Given the description of an element on the screen output the (x, y) to click on. 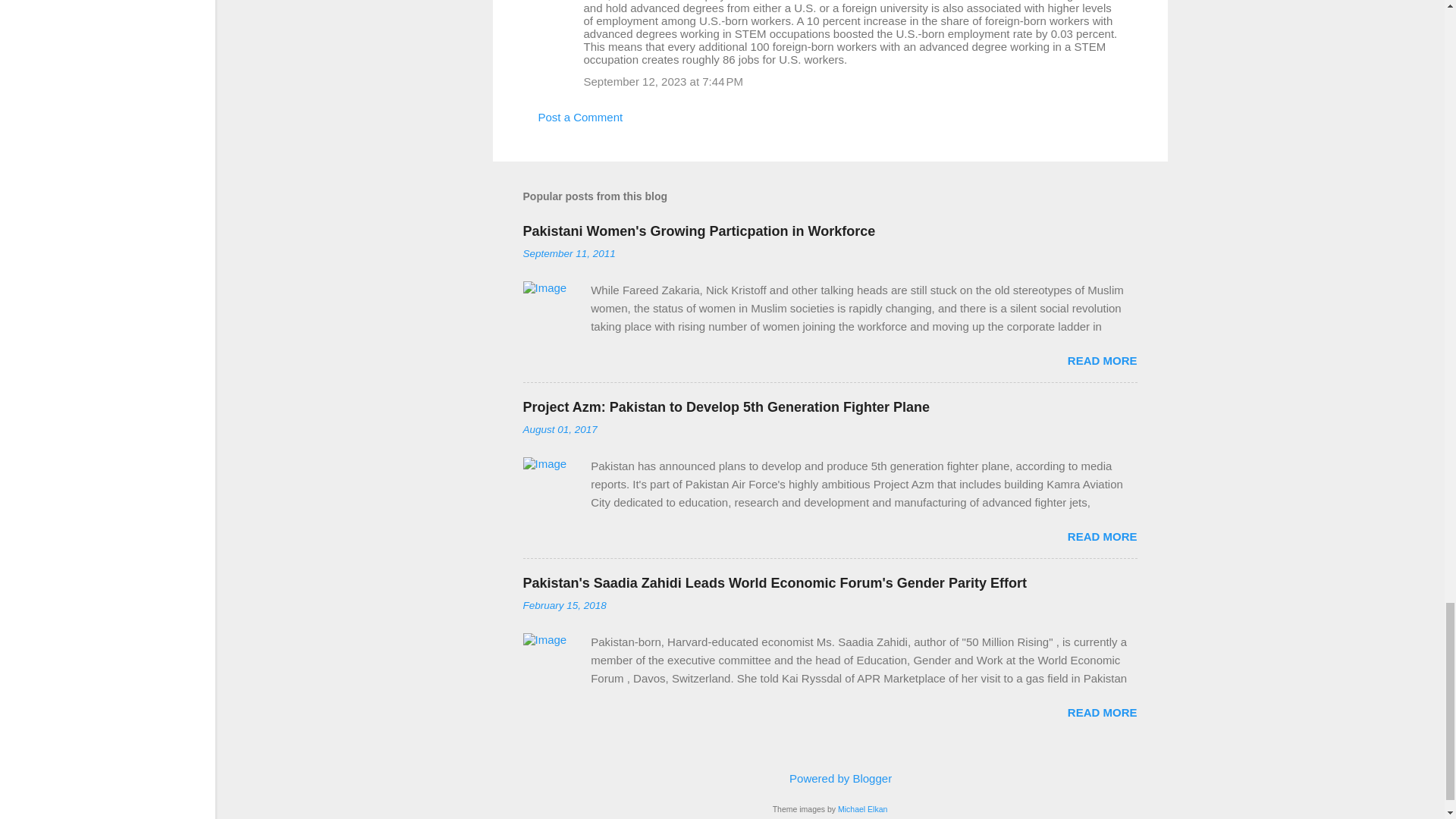
comment permalink (663, 81)
